Given the description of an element on the screen output the (x, y) to click on. 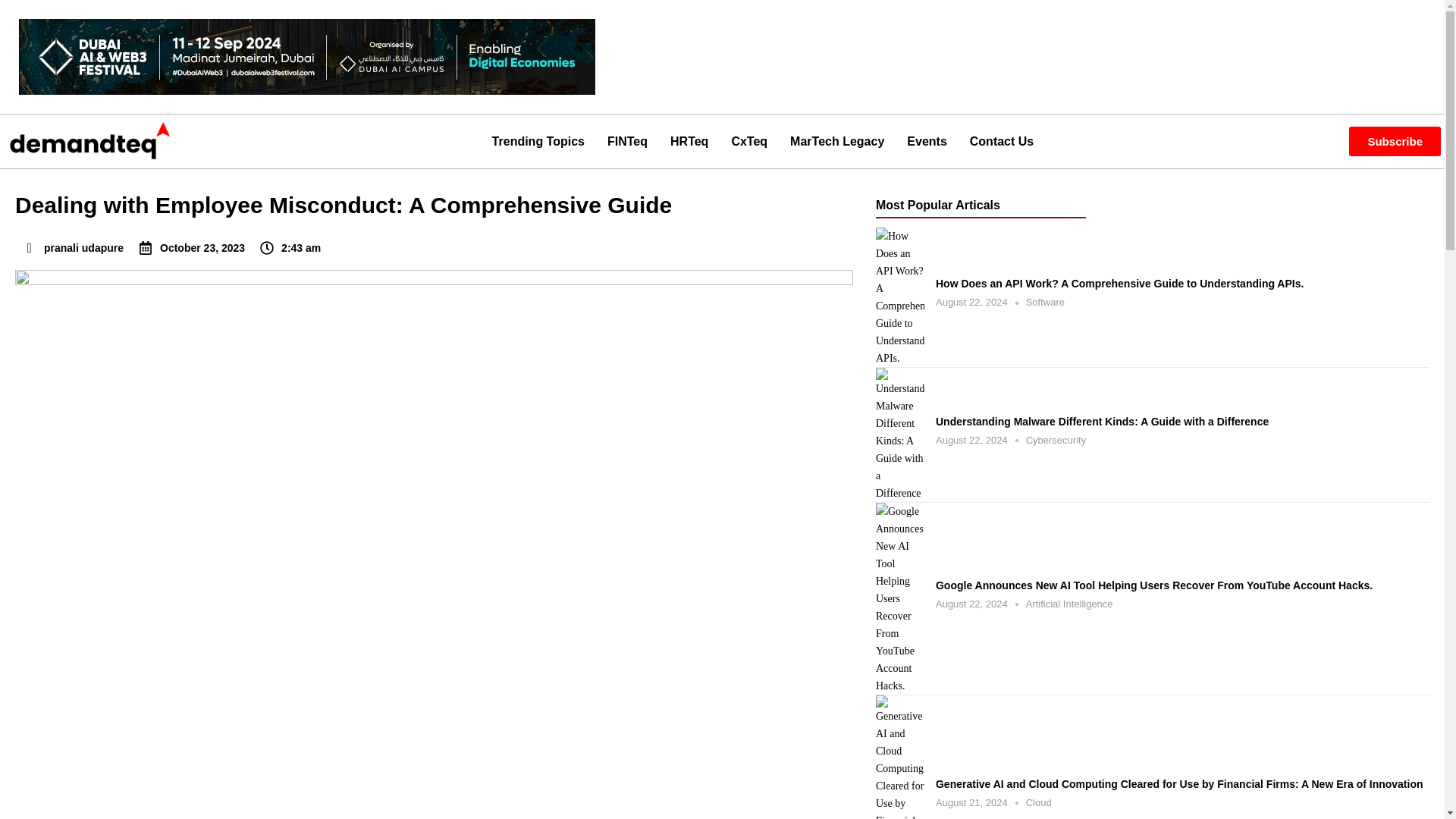
HRTeq (689, 140)
Events (926, 140)
CxTeq (748, 140)
Trending Topics (537, 140)
Subscribe (1395, 141)
MarTech Legacy (836, 140)
FINTeq (627, 140)
